Given the description of an element on the screen output the (x, y) to click on. 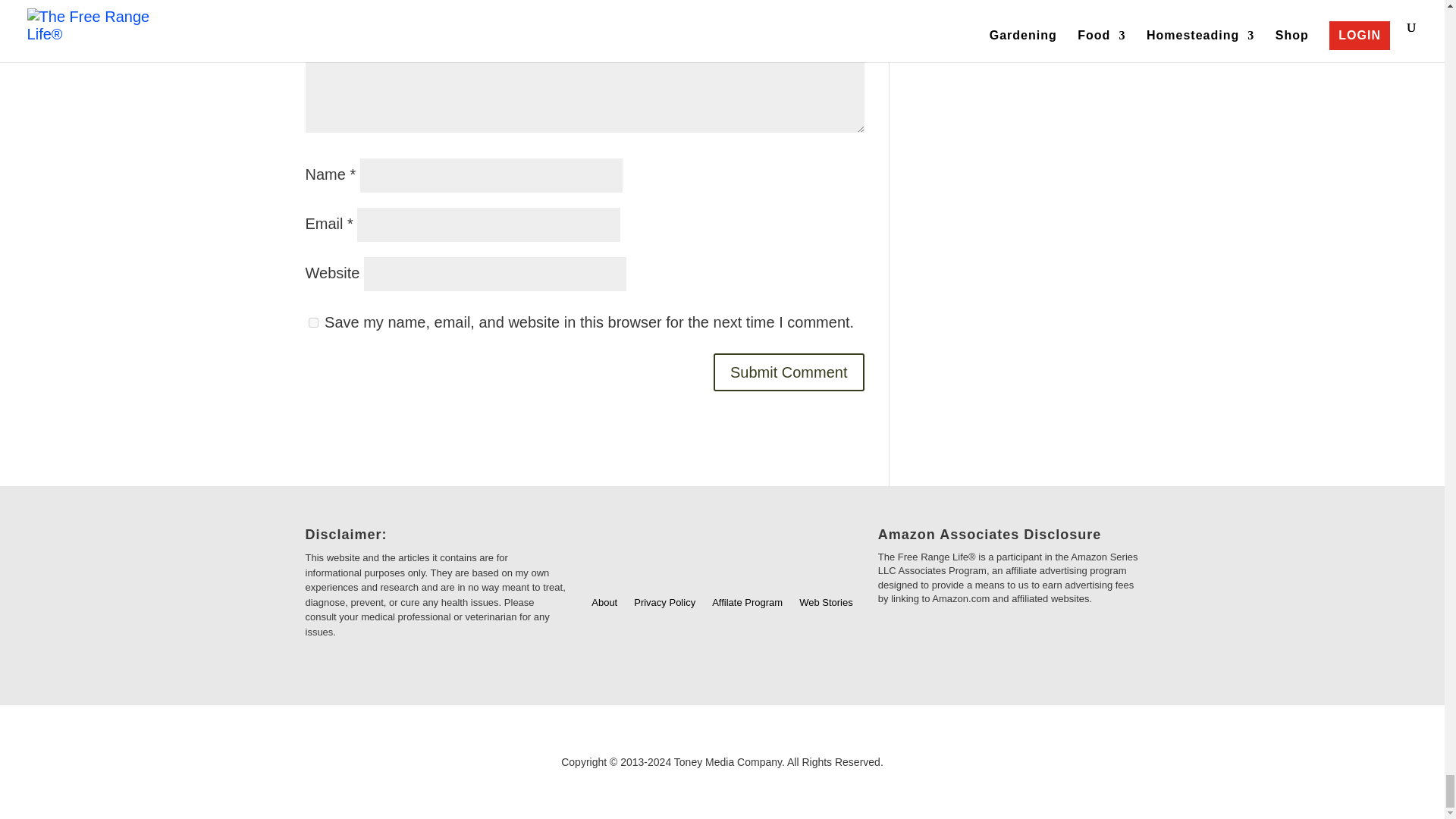
Submit Comment (788, 371)
yes (312, 322)
